Given the description of an element on the screen output the (x, y) to click on. 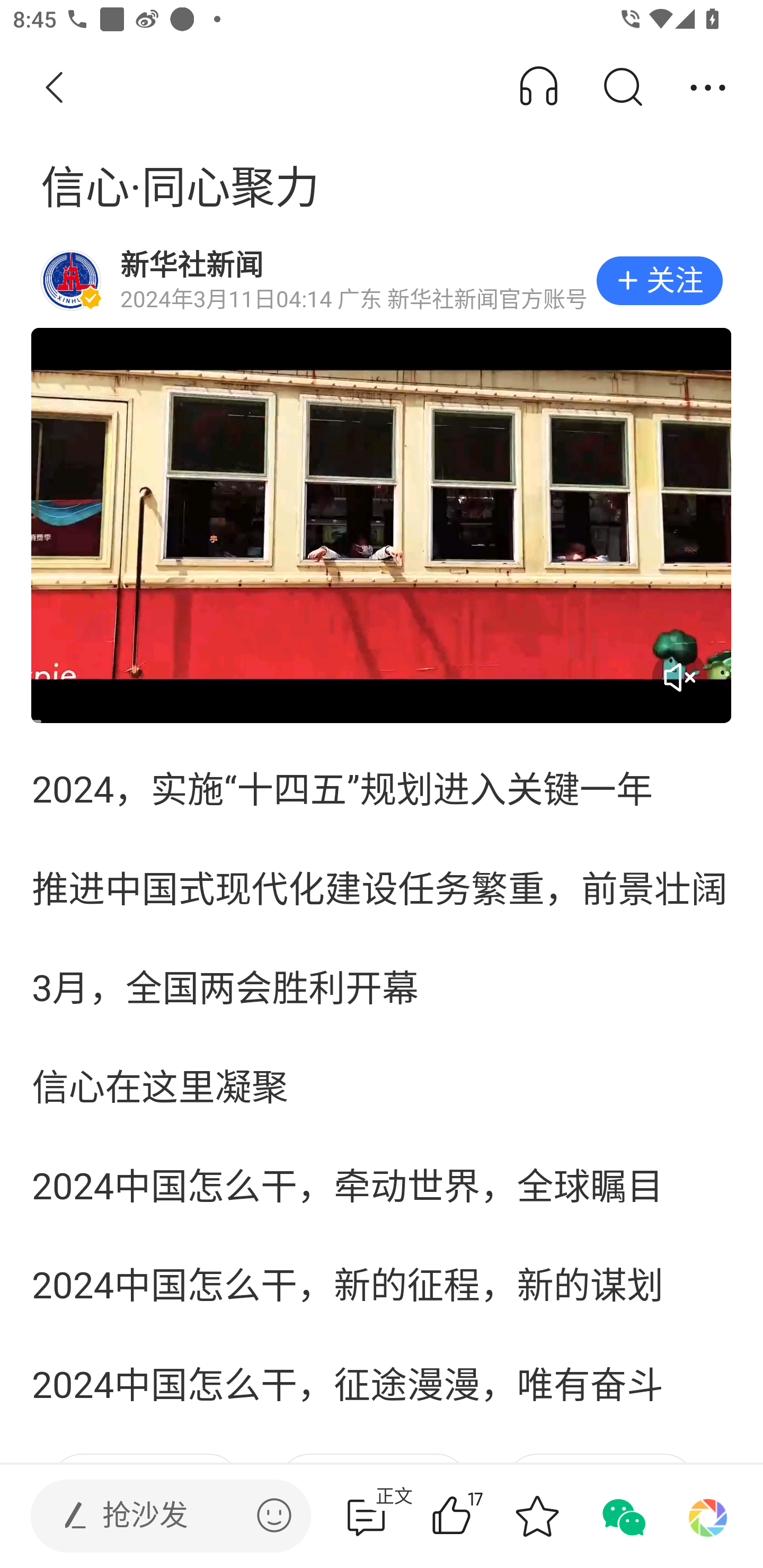
搜索  (622, 87)
分享  (707, 87)
 返回 (54, 87)
新华社新闻 2024年3月11日04:14 广东 新华社新闻官方账号  关注 (381, 280)
 关注 (659, 281)
03:46 (381, 524)
音量开关 (679, 677)
发表评论  抢沙发 发表评论  (155, 1516)
抢评论  正文 正文 (365, 1516)
17赞 (476, 1516)
收藏  (536, 1516)
分享到微信  (622, 1516)
分享到朋友圈 (707, 1516)
 (274, 1515)
